Given the description of an element on the screen output the (x, y) to click on. 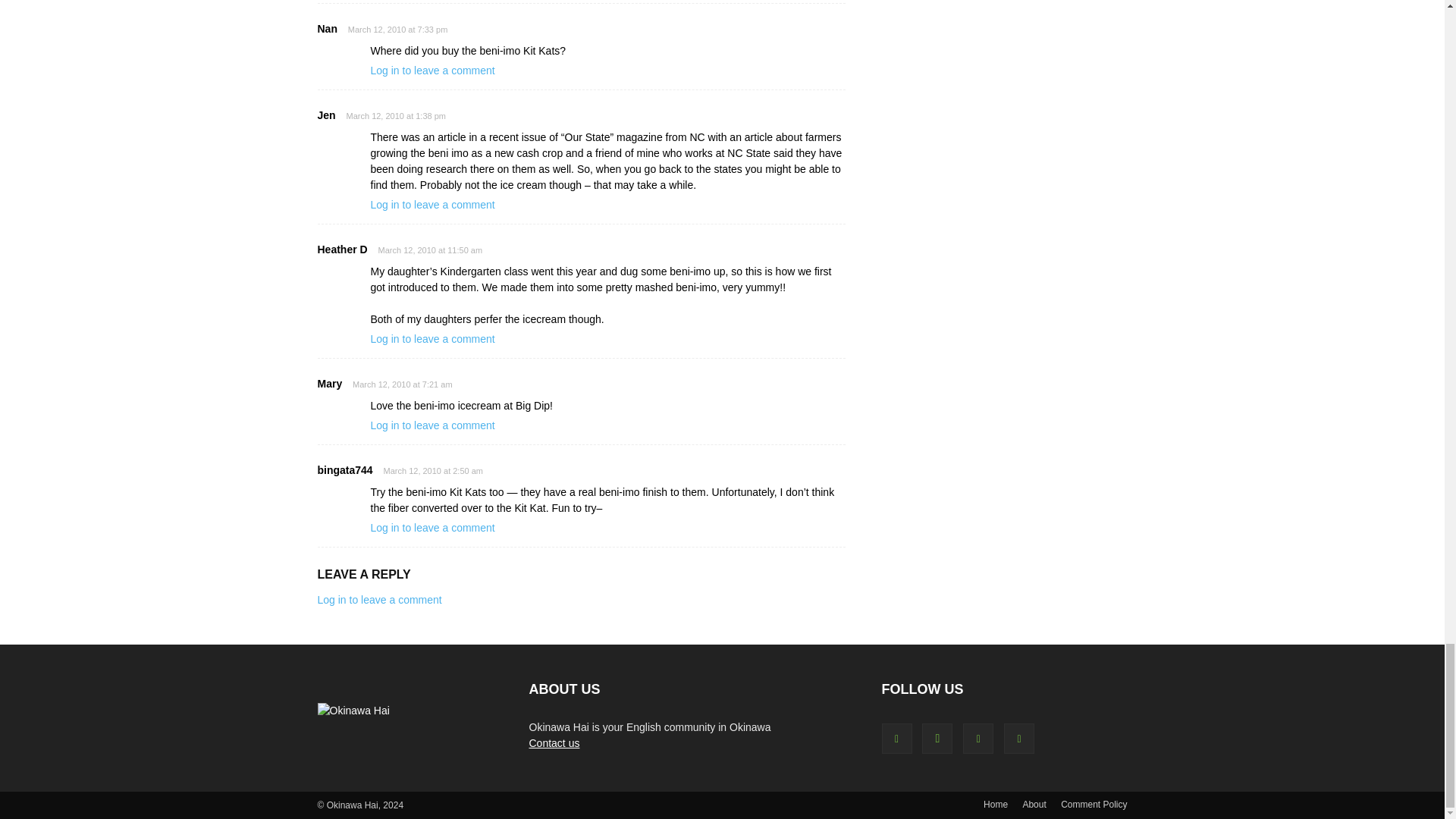
Facebook (895, 738)
Instagram (936, 738)
Twitter (977, 738)
